Given the description of an element on the screen output the (x, y) to click on. 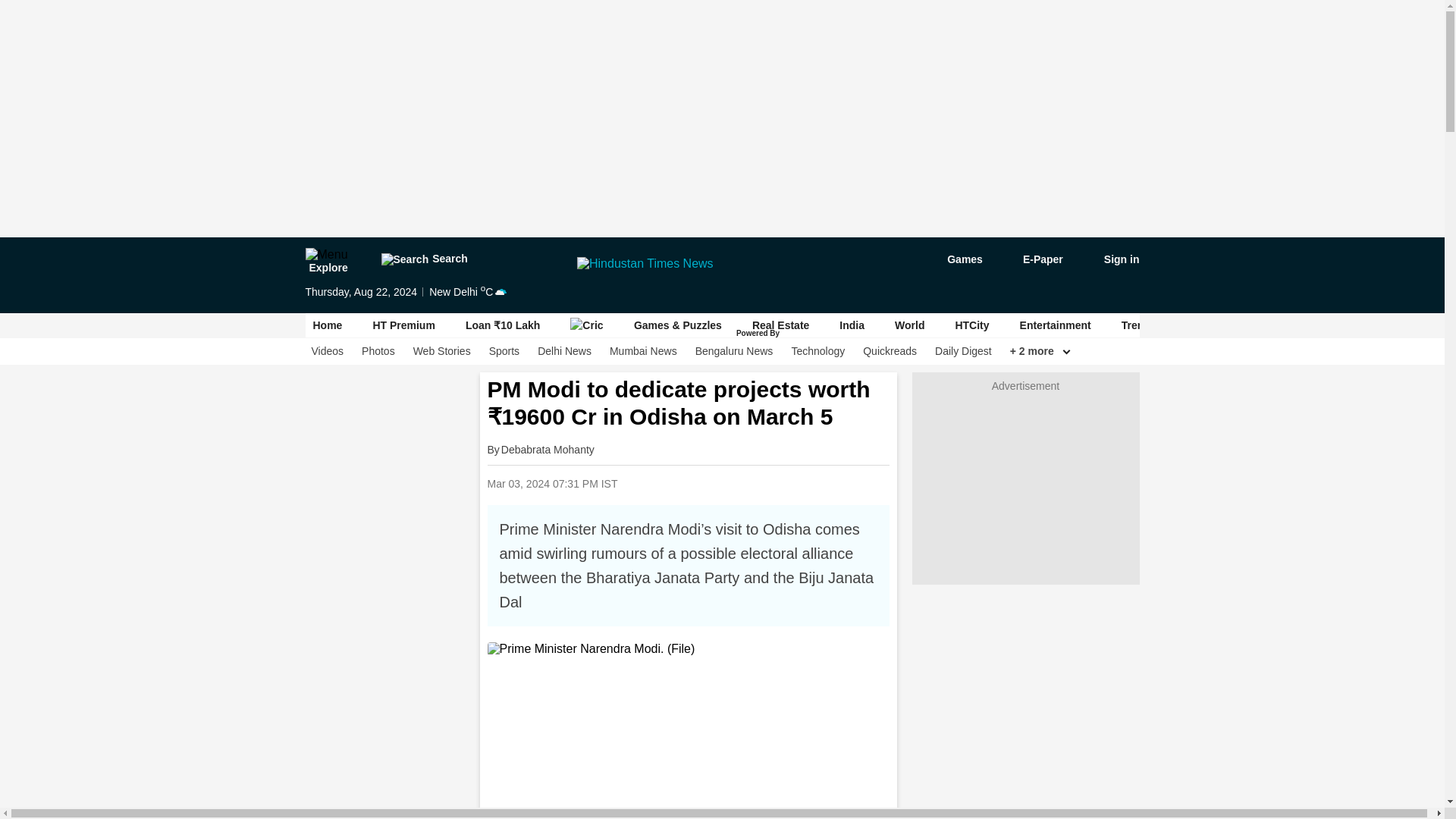
game (954, 258)
Lifestyle (1297, 325)
Crickit (587, 324)
Sports (504, 350)
Daily Digest (962, 350)
Education (1374, 325)
Photos (377, 350)
Technology (817, 350)
Share on Twitter (749, 483)
Games (954, 258)
